Given the description of an element on the screen output the (x, y) to click on. 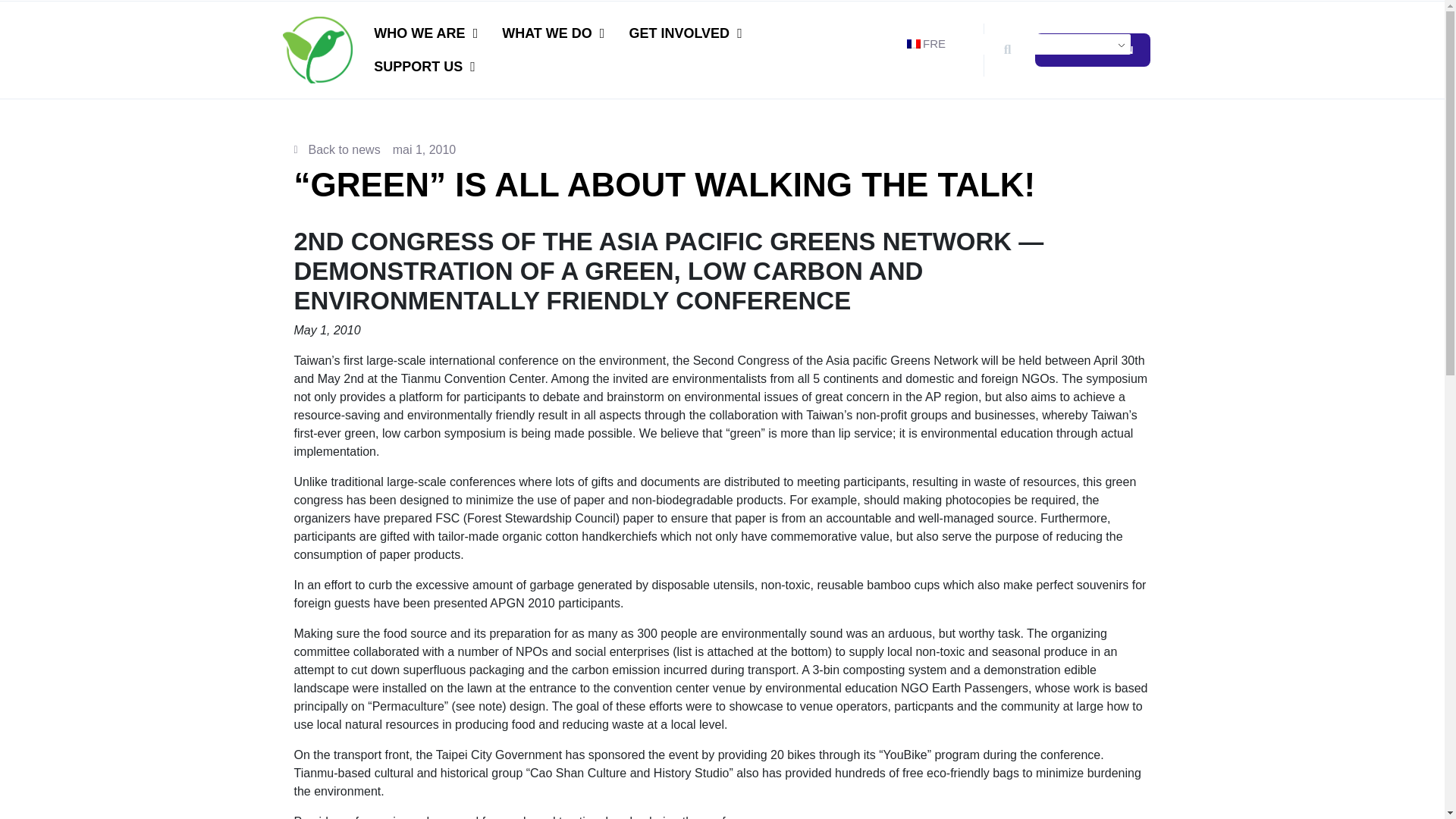
French (913, 43)
WHAT WE DO (552, 32)
GET INVOLVED (684, 32)
SUPPORT US (424, 66)
WHO WE ARE (425, 32)
French (1016, 44)
